Given the description of an element on the screen output the (x, y) to click on. 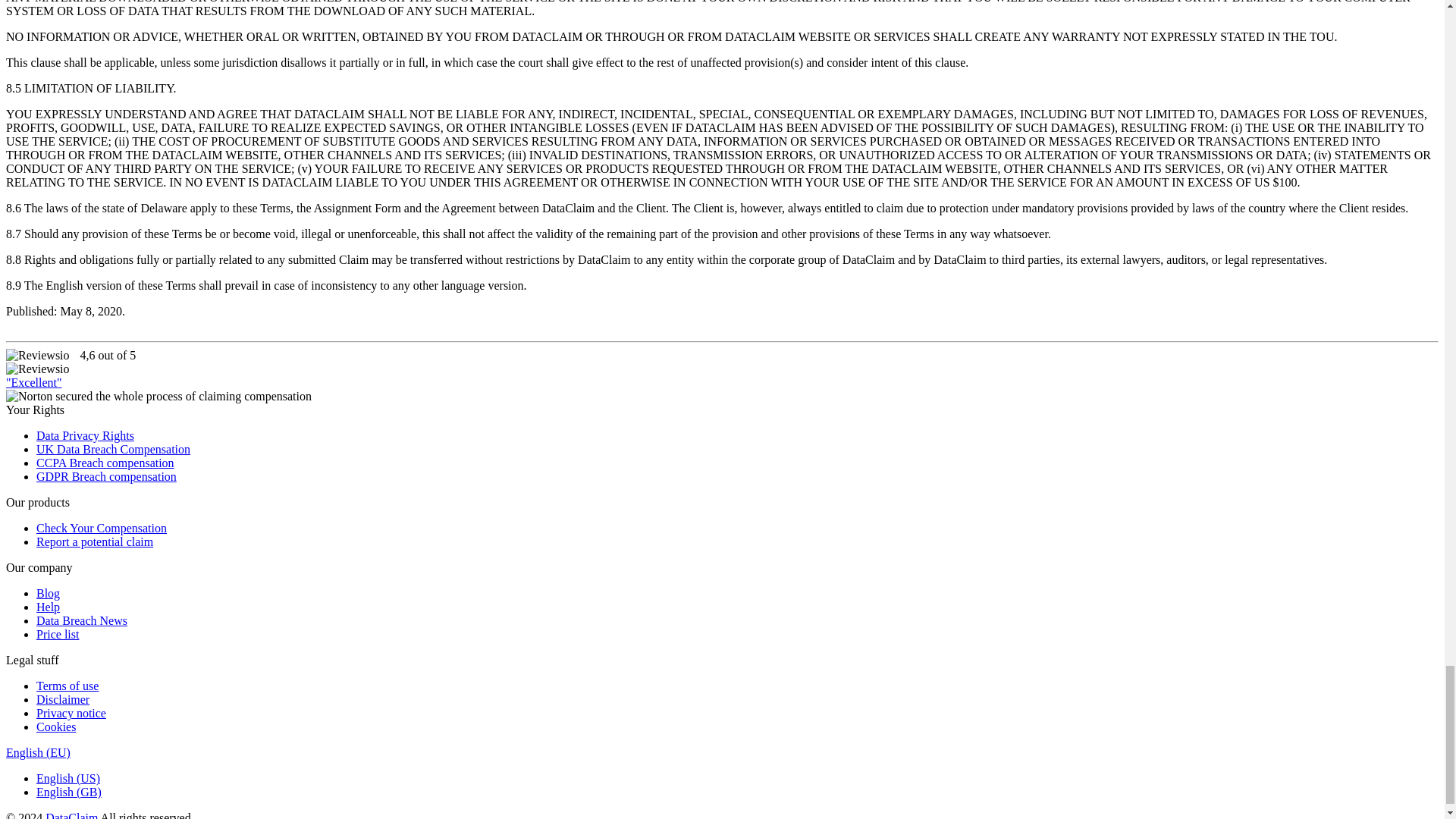
Data Breach News (82, 620)
Data Privacy Rights (84, 435)
Blog (47, 593)
CCPA Breach compensation (105, 462)
Terms of use (67, 685)
Check Your Compensation (101, 527)
Safe website with Norton Secured (158, 396)
4,6  Reviews.io (37, 355)
Report a potential claim (94, 541)
GDPR Breach compensation (106, 476)
Reviewsio (37, 368)
UK Data Breach Compensation (113, 449)
Help (47, 606)
Disclaimer (62, 698)
Privacy notice (71, 712)
